Given the description of an element on the screen output the (x, y) to click on. 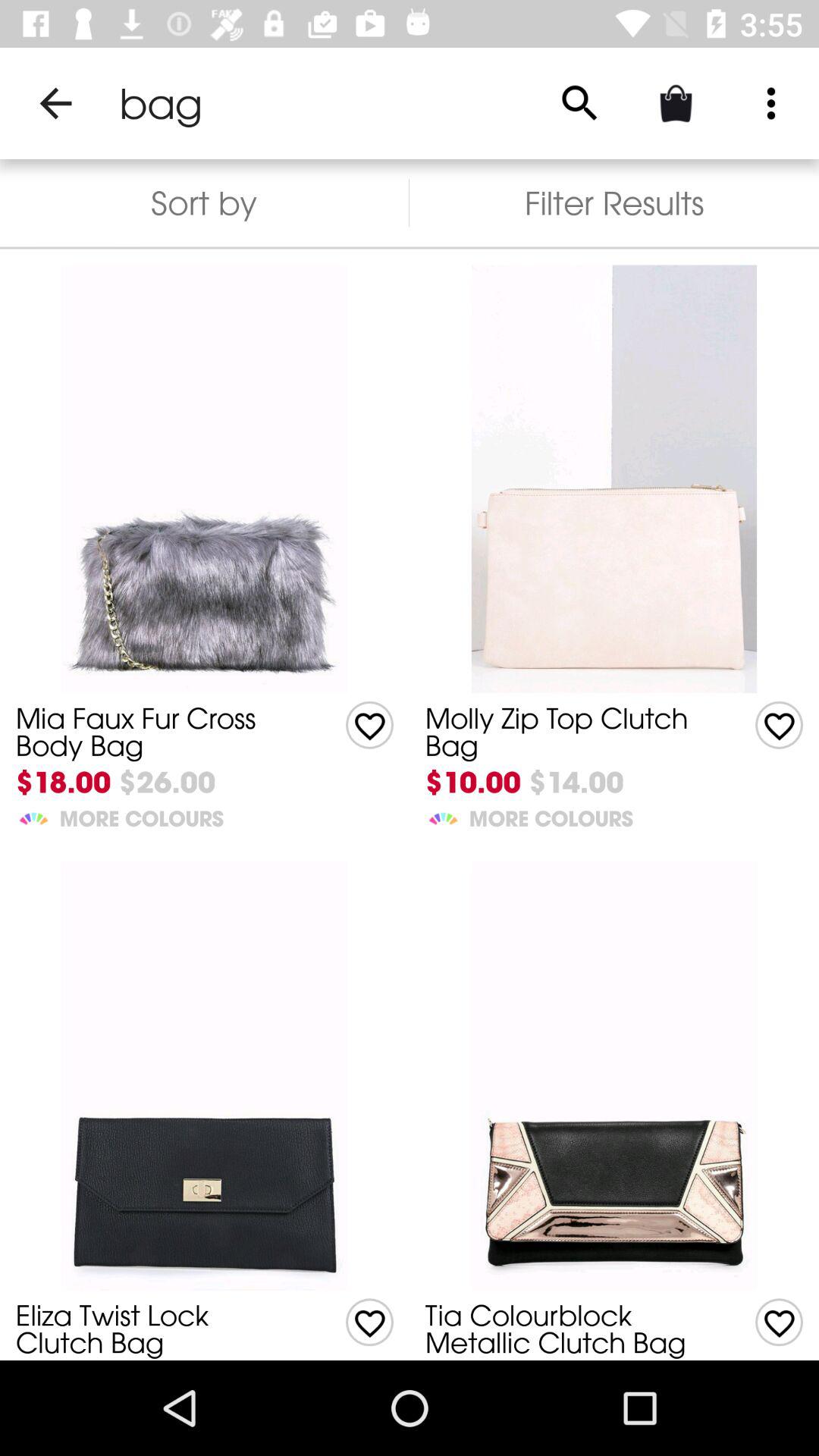
open the app to the left of the bag item (55, 103)
